Given the description of an element on the screen output the (x, y) to click on. 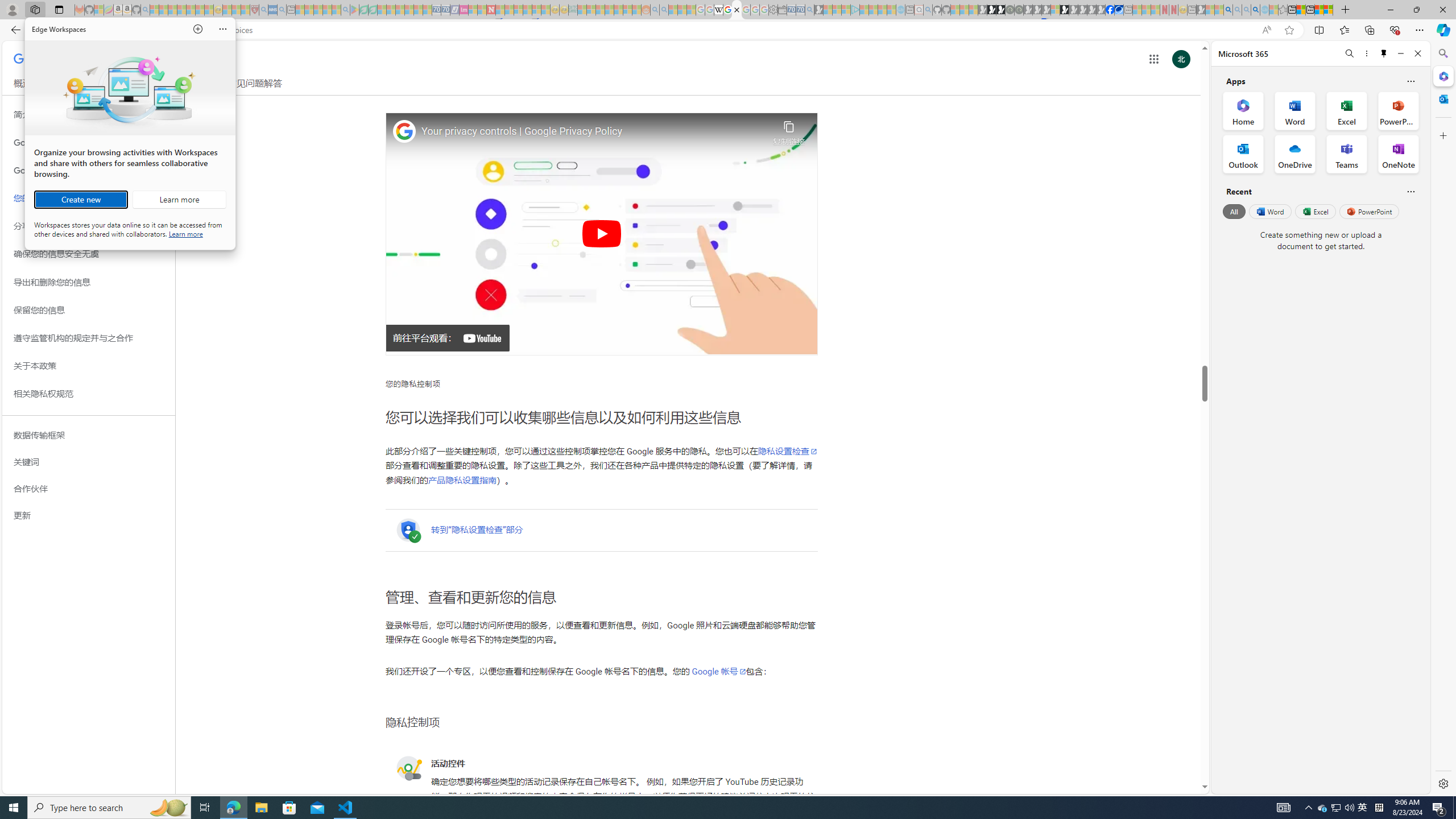
Excel Office App (1346, 110)
Learn more about Workspaces privacy (185, 233)
